Given the description of an element on the screen output the (x, y) to click on. 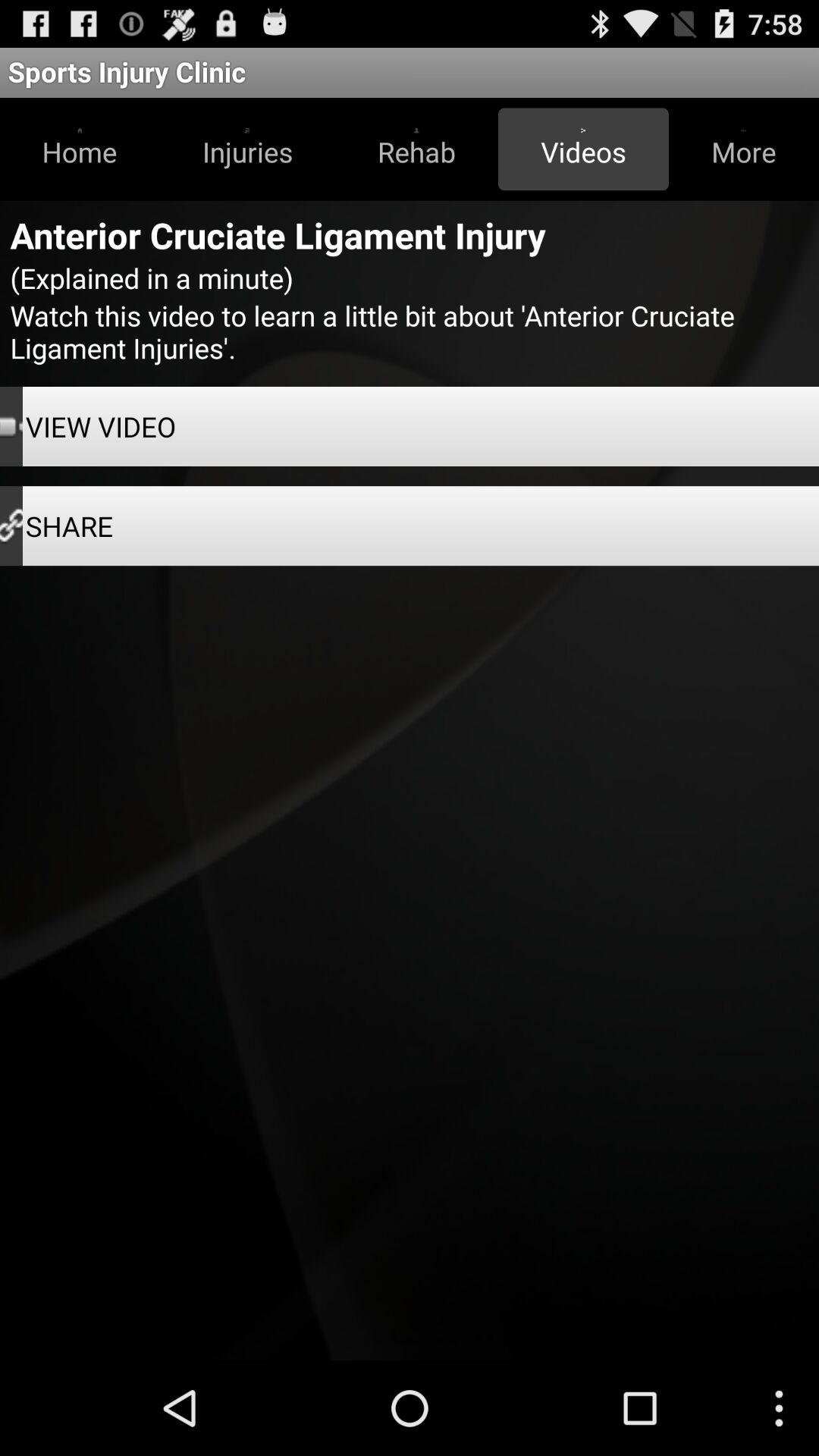
launch icon next to the videos icon (743, 149)
